Given the description of an element on the screen output the (x, y) to click on. 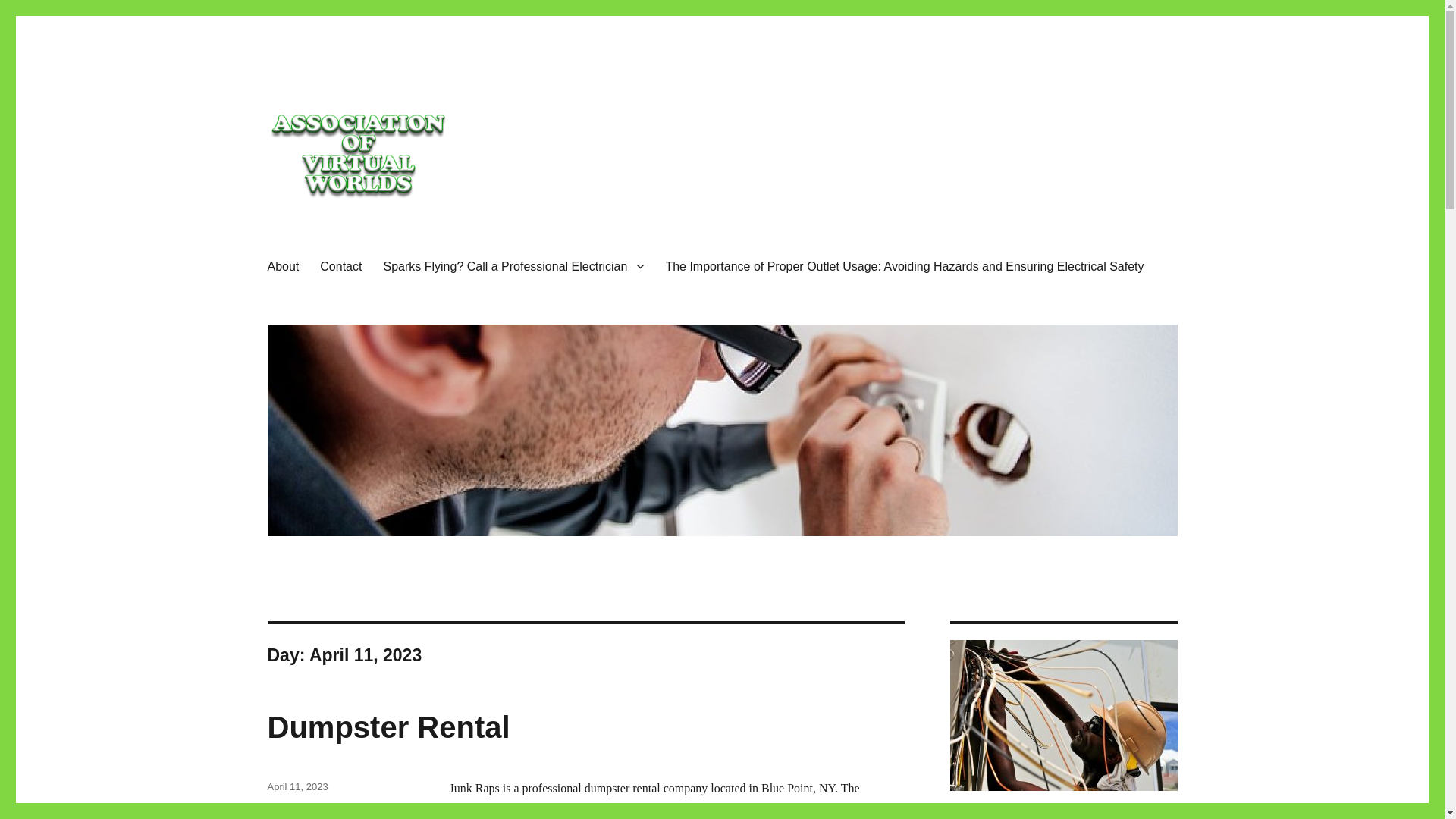
Contact (340, 265)
Sparks Flying? Call a Professional Electrician (512, 265)
Dumpster Rental (387, 726)
About (282, 265)
April 11, 2023 (296, 786)
Long Island Electrical Contractor (432, 231)
